Given the description of an element on the screen output the (x, y) to click on. 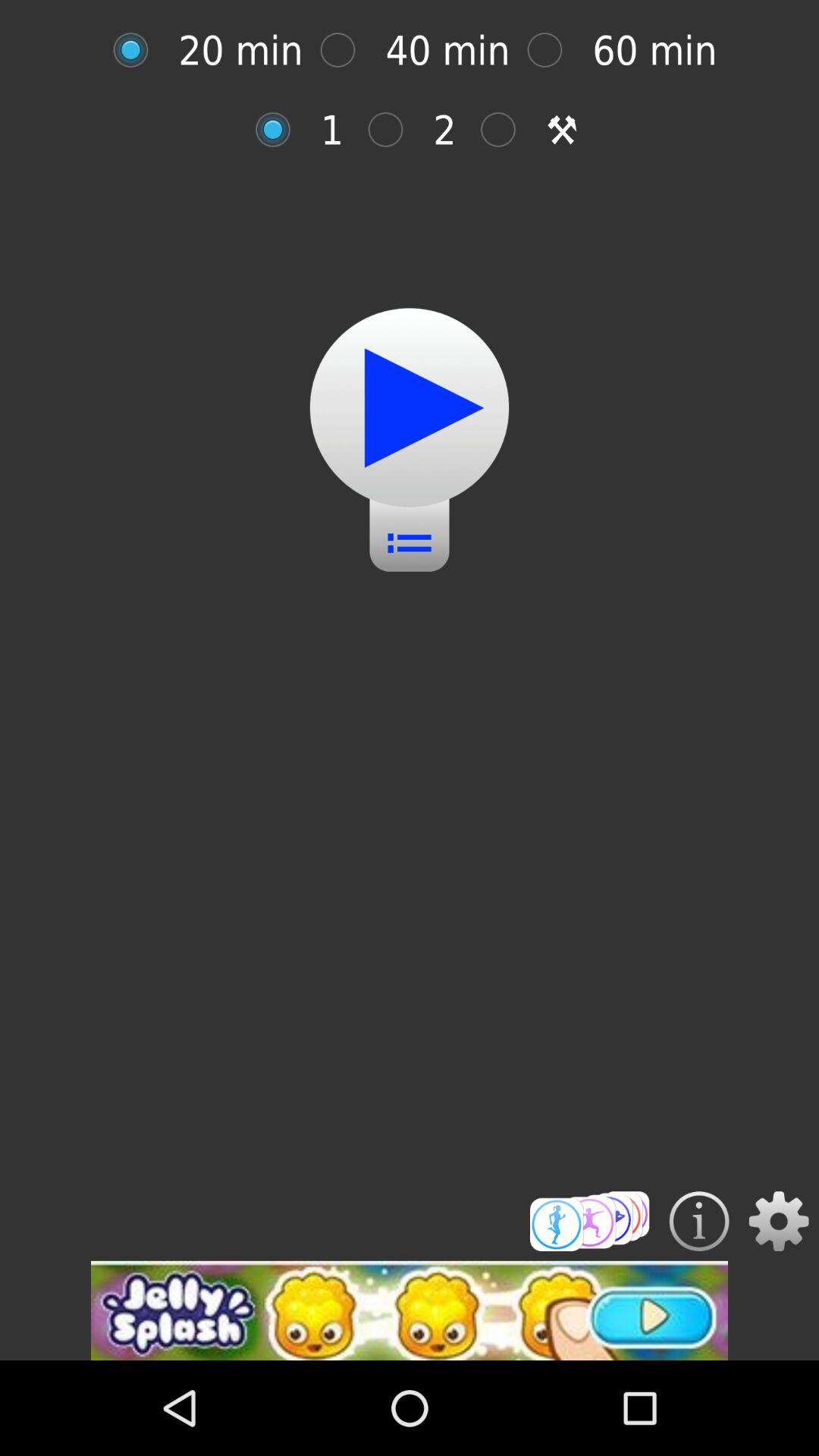
view the advertisement (409, 1310)
